Given the description of an element on the screen output the (x, y) to click on. 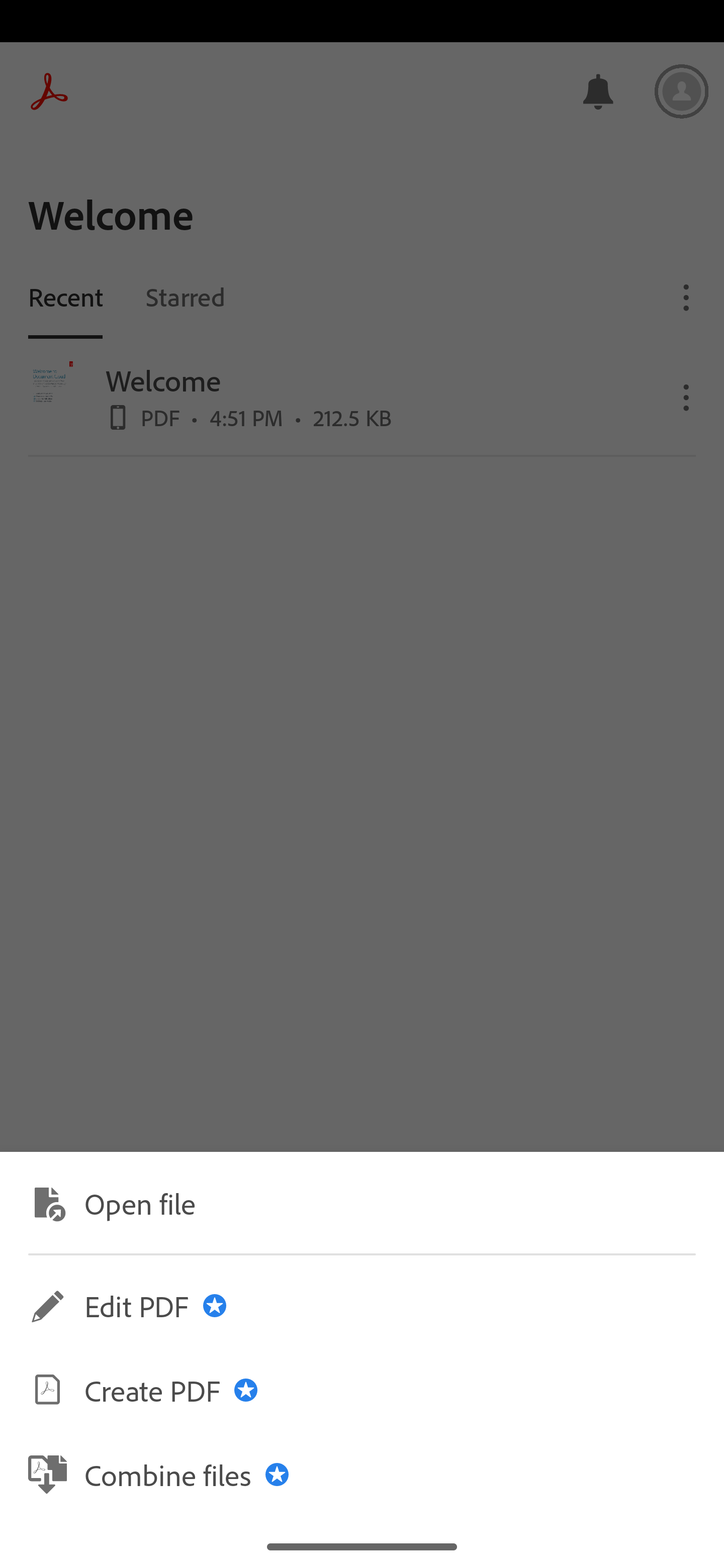
Open file (362, 1202)
Edit PDF Premium (362, 1305)
Create PDF Premium (362, 1389)
Combine files Premium (362, 1473)
